Given the description of an element on the screen output the (x, y) to click on. 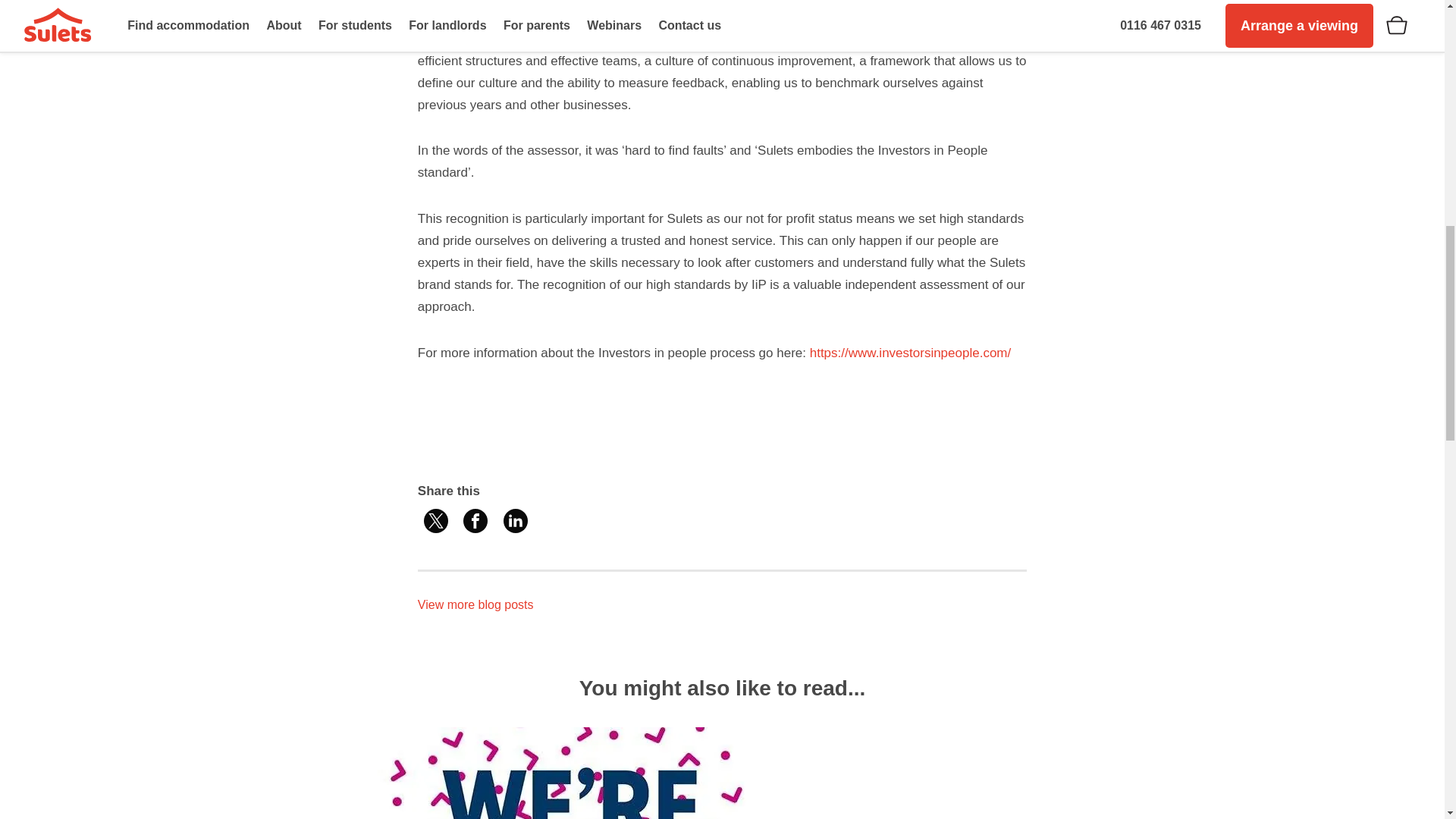
Twitter (435, 520)
Facebook (475, 520)
LinkedIn (515, 520)
